Given the description of an element on the screen output the (x, y) to click on. 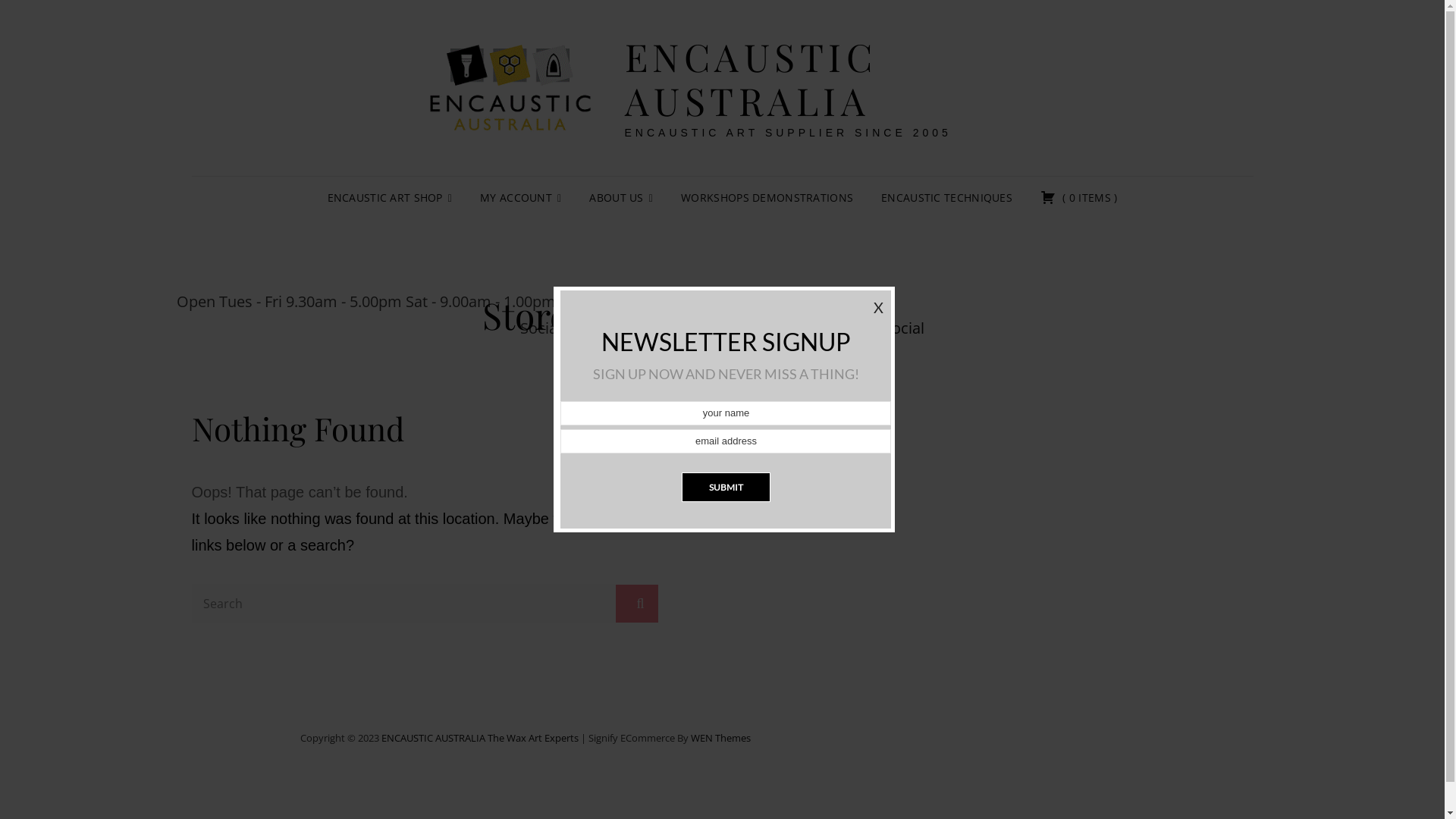
MY ACCOUNT Element type: text (520, 197)
WORKSHOPS DEMONSTRATIONS Element type: text (766, 197)
The Wax Art Experts Element type: text (531, 737)
ABOUT US Element type: text (621, 197)
SEARCH Element type: text (636, 603)
ENCAUSTIC AUSTRALIA Element type: text (432, 737)
ENCAUSTIC ART SHOP Element type: text (389, 197)
ENCAUSTIC TECHNIQUES Element type: text (946, 197)
ENCAUSTIC AUSTRALIA Element type: text (750, 78)
SUBMIT Element type: text (725, 487)
WEN Themes Element type: text (719, 737)
X Element type: text (878, 307)
( 0 ITEMS ) Element type: text (1078, 197)
UltimatelySocial Element type: text (867, 327)
X Element type: text (878, 307)
